Given the description of an element on the screen output the (x, y) to click on. 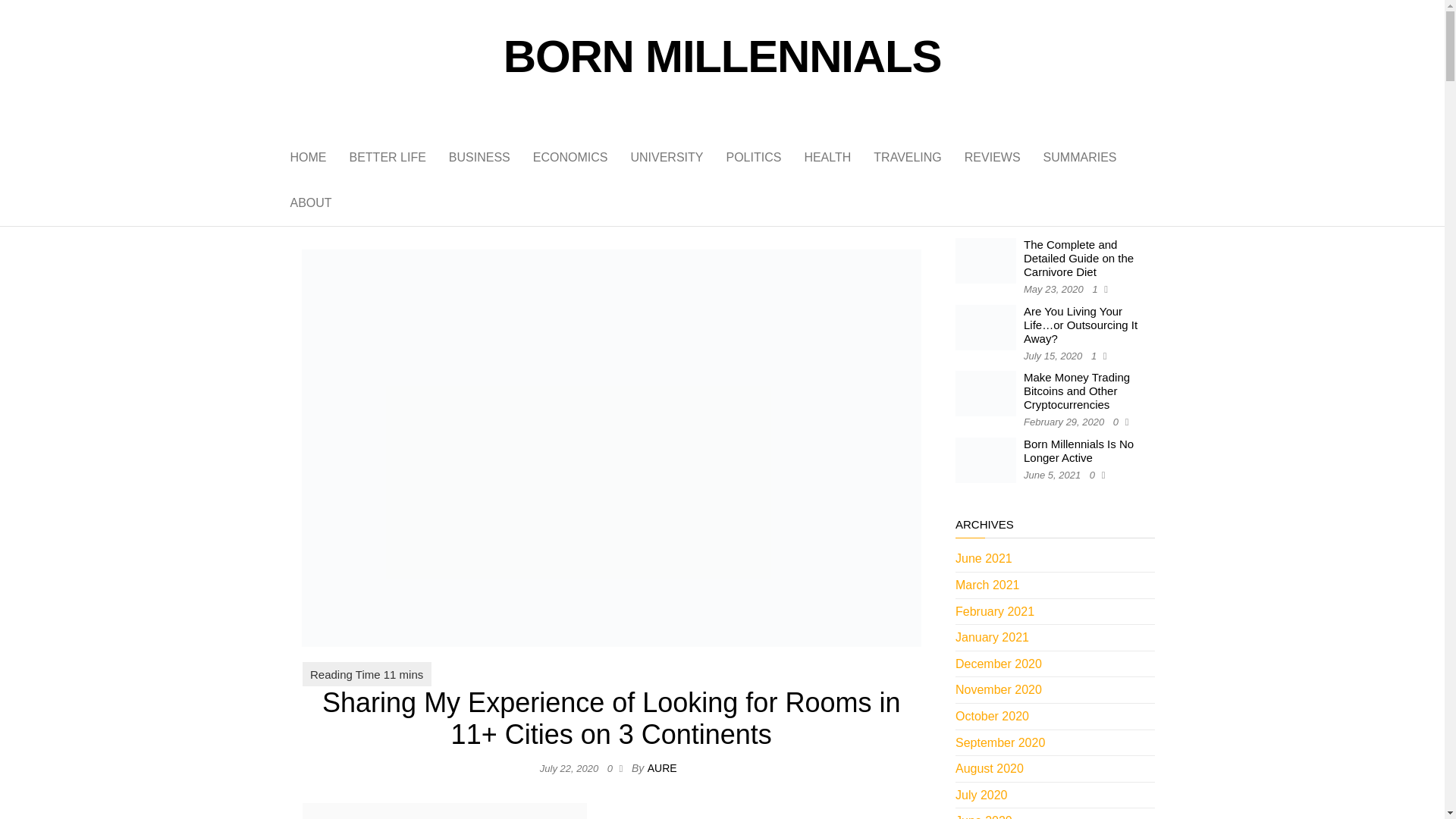
BORN MILLENNIALS (721, 56)
POLITICS (753, 157)
Business (479, 157)
0 (613, 767)
Economics (570, 157)
University (666, 157)
REVIEWS (992, 157)
SUMMARIES (1080, 157)
Health (826, 157)
Politics (753, 157)
